Given the description of an element on the screen output the (x, y) to click on. 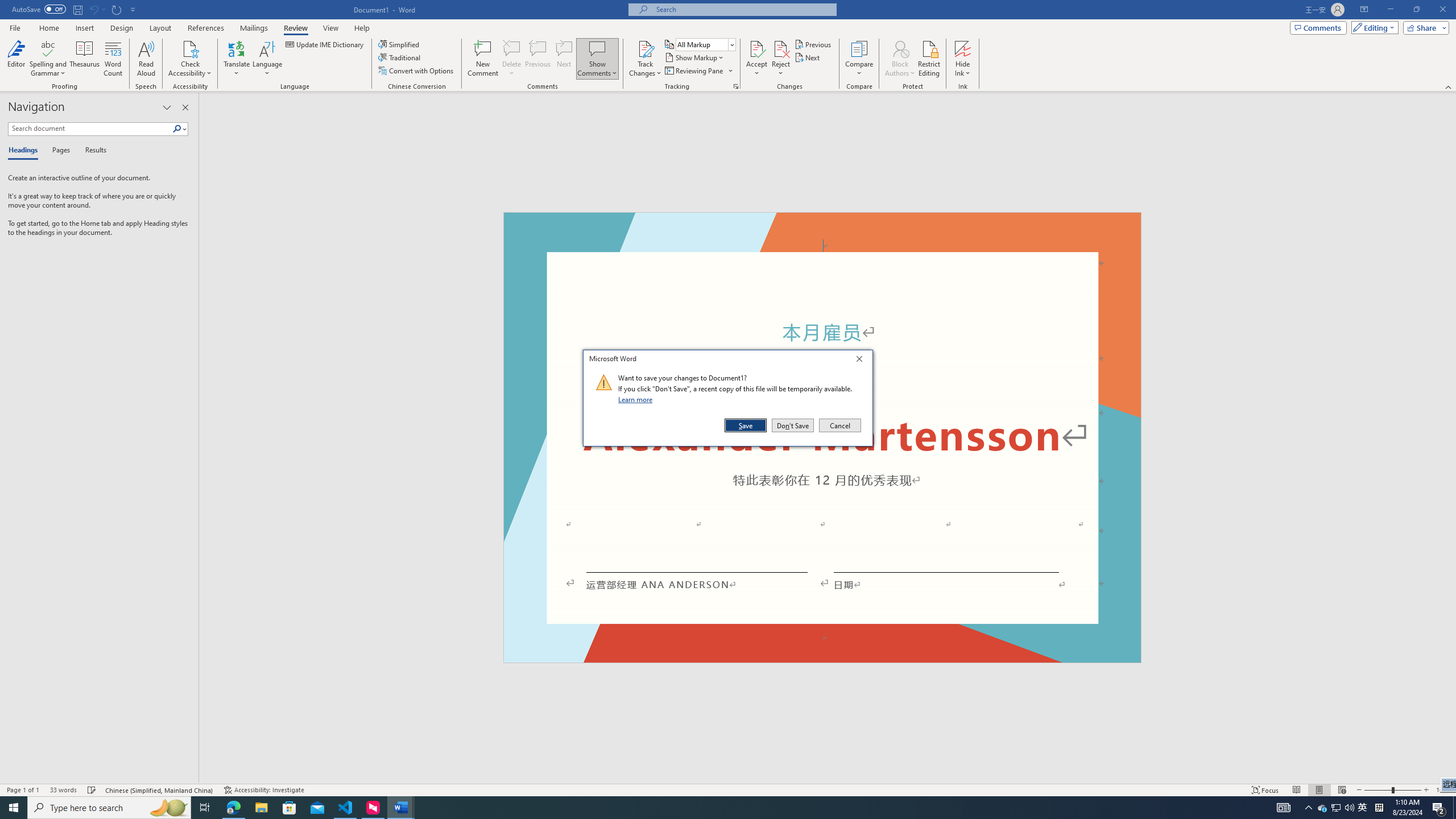
Track Changes (644, 58)
Convert with Options... (417, 69)
Spelling and Grammar (48, 48)
Word - 2 running windows (400, 807)
